Given the description of an element on the screen output the (x, y) to click on. 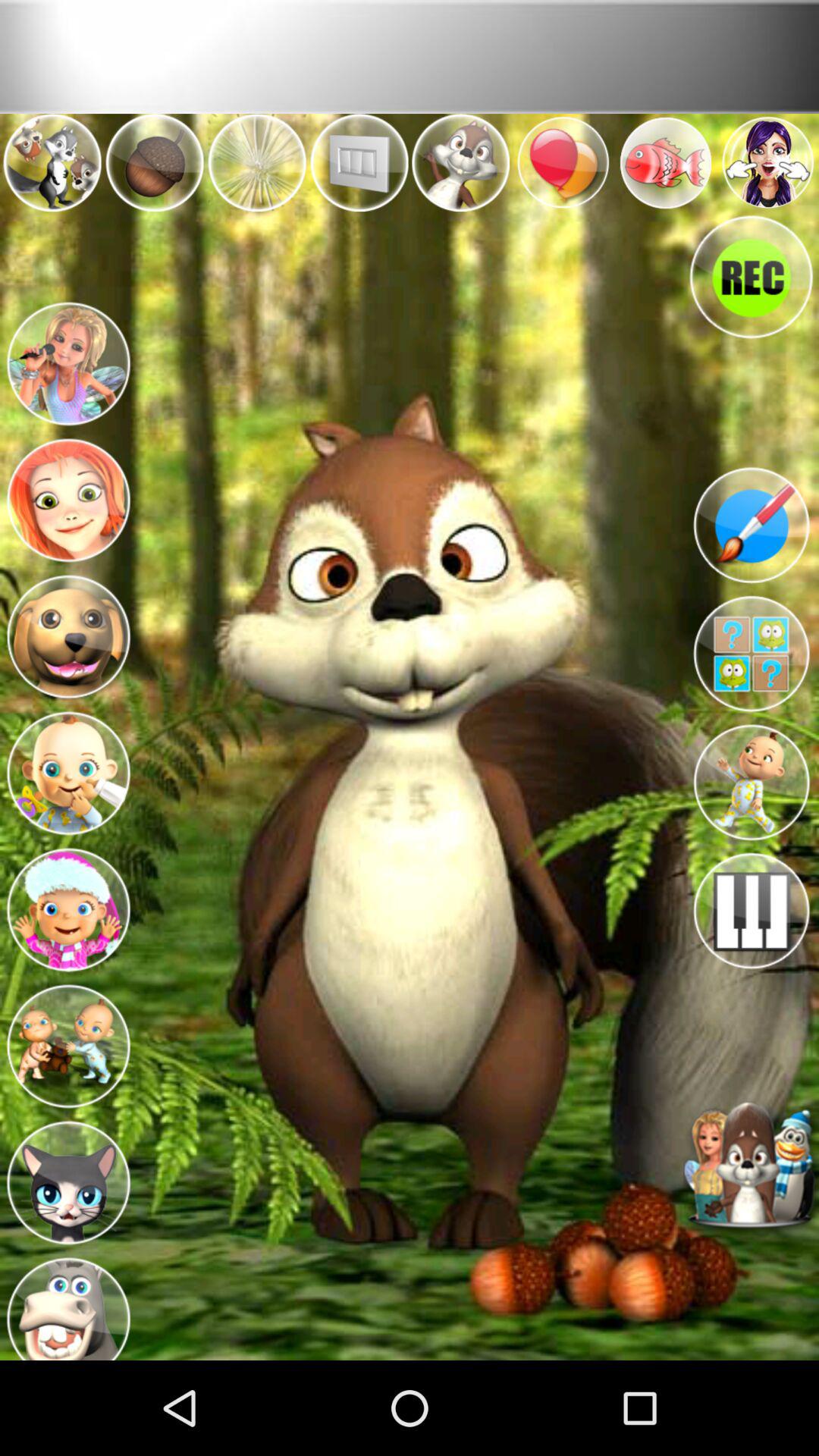
select this avatar (751, 782)
